Given the description of an element on the screen output the (x, y) to click on. 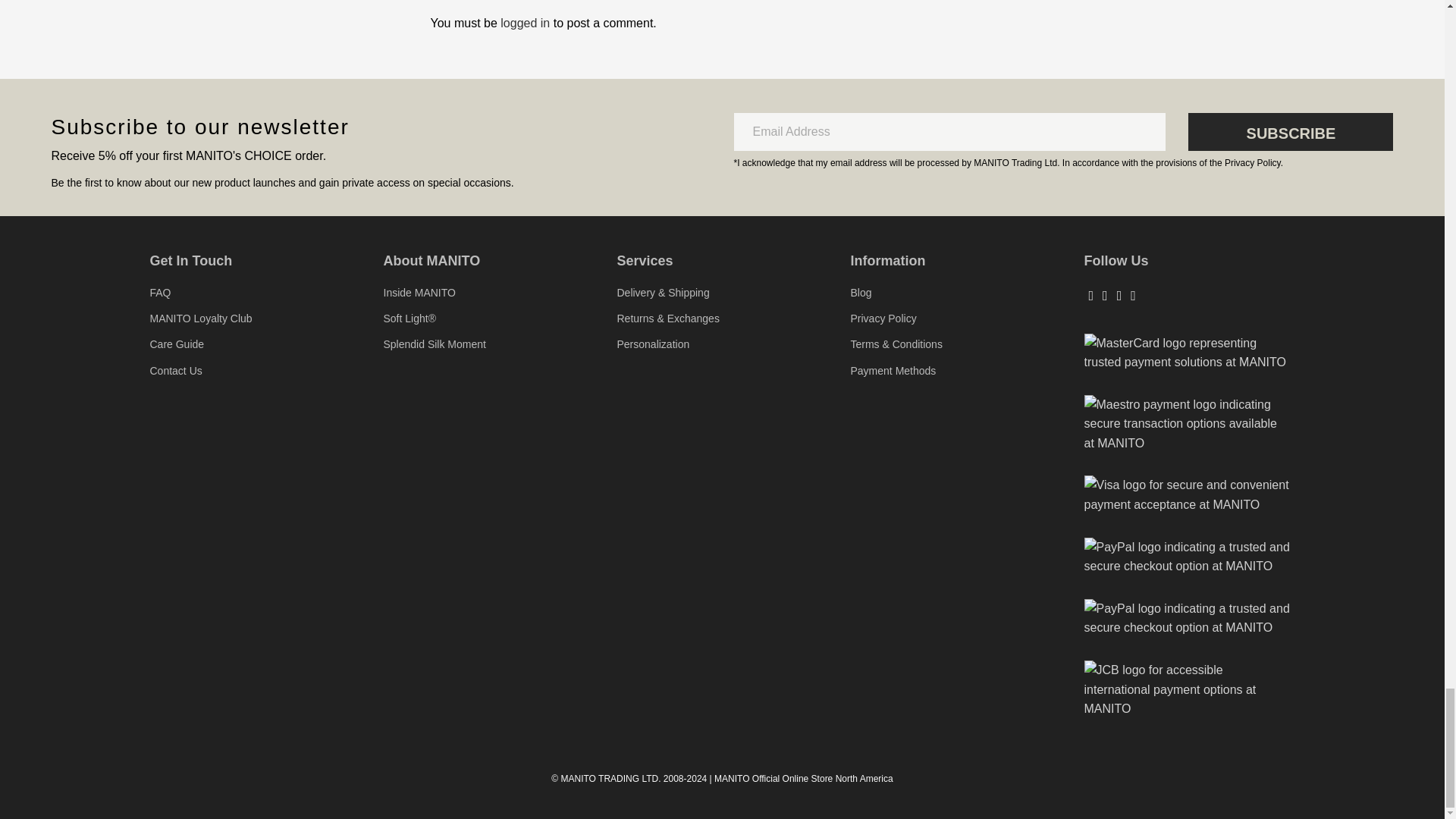
SUBSCRIBE (1290, 131)
